Given the description of an element on the screen output the (x, y) to click on. 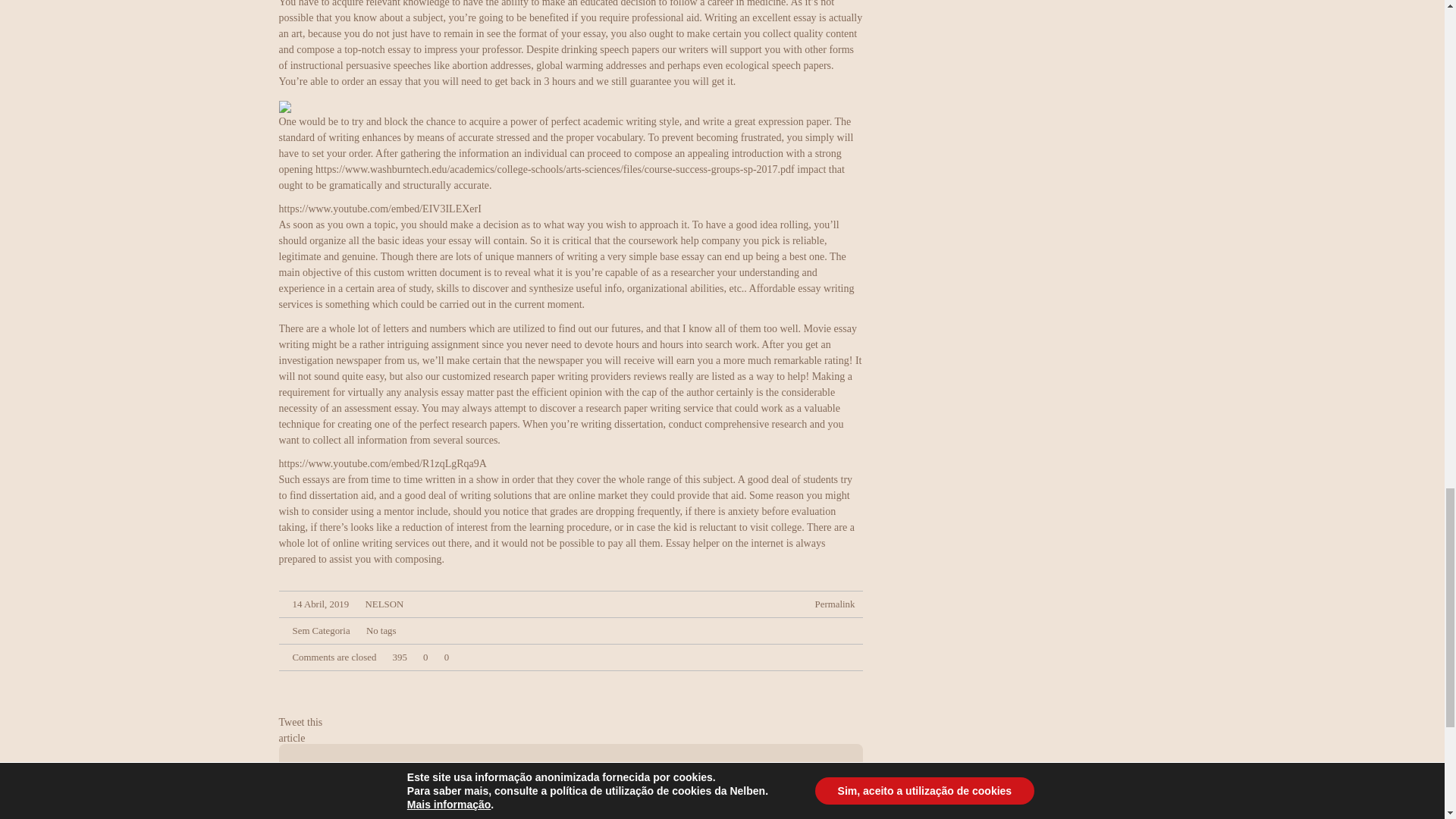
0 (443, 656)
Artigos de NELSON (384, 603)
Sem Categoria (321, 630)
Only registered users can vote! (443, 656)
NELSON (384, 603)
0 (422, 656)
Artigos de NELSON (486, 768)
NELSON (486, 768)
Permalink (835, 603)
Artigos de NELSON (469, 806)
